Given the description of an element on the screen output the (x, y) to click on. 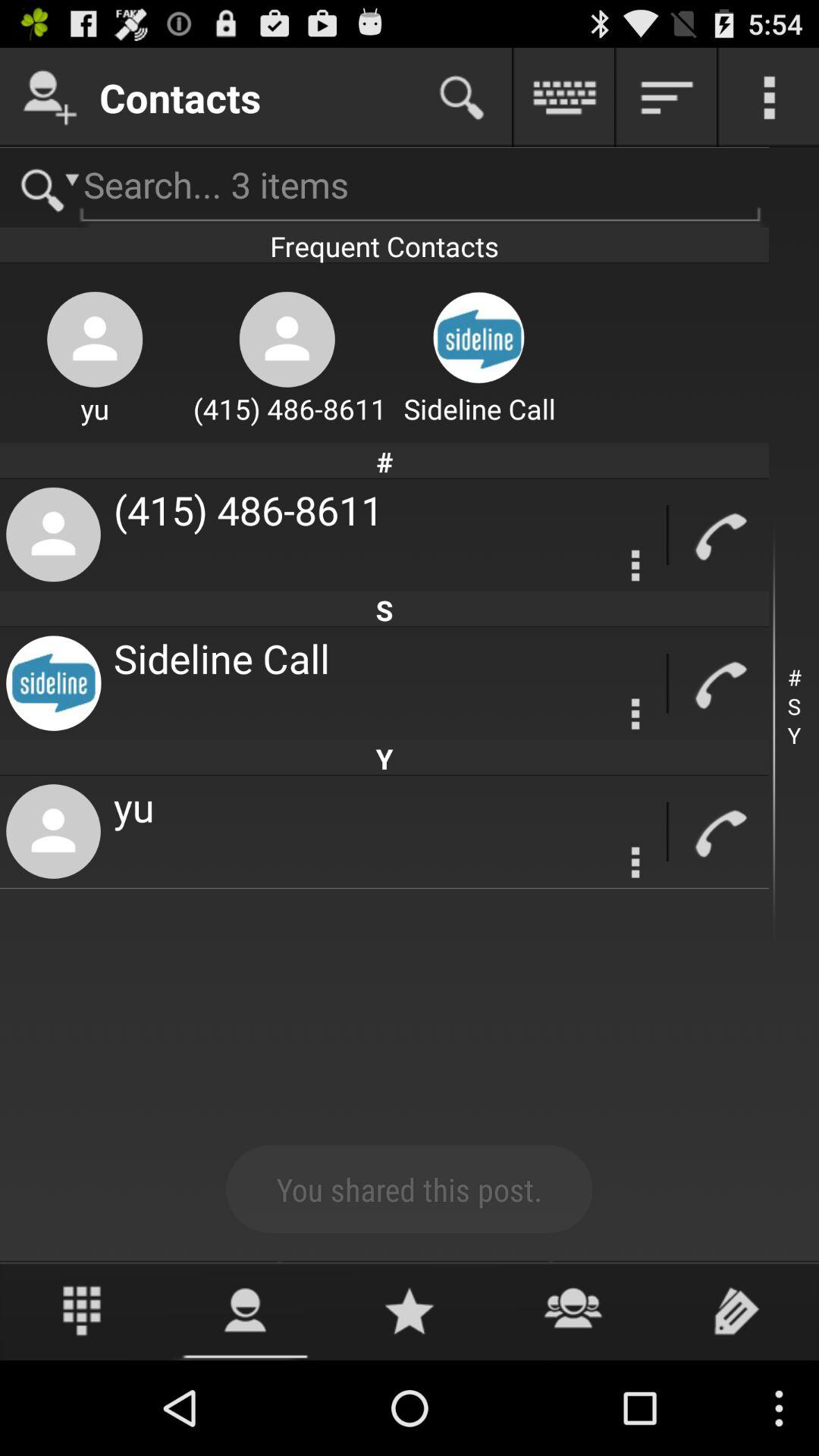
call option (718, 683)
